Given the description of an element on the screen output the (x, y) to click on. 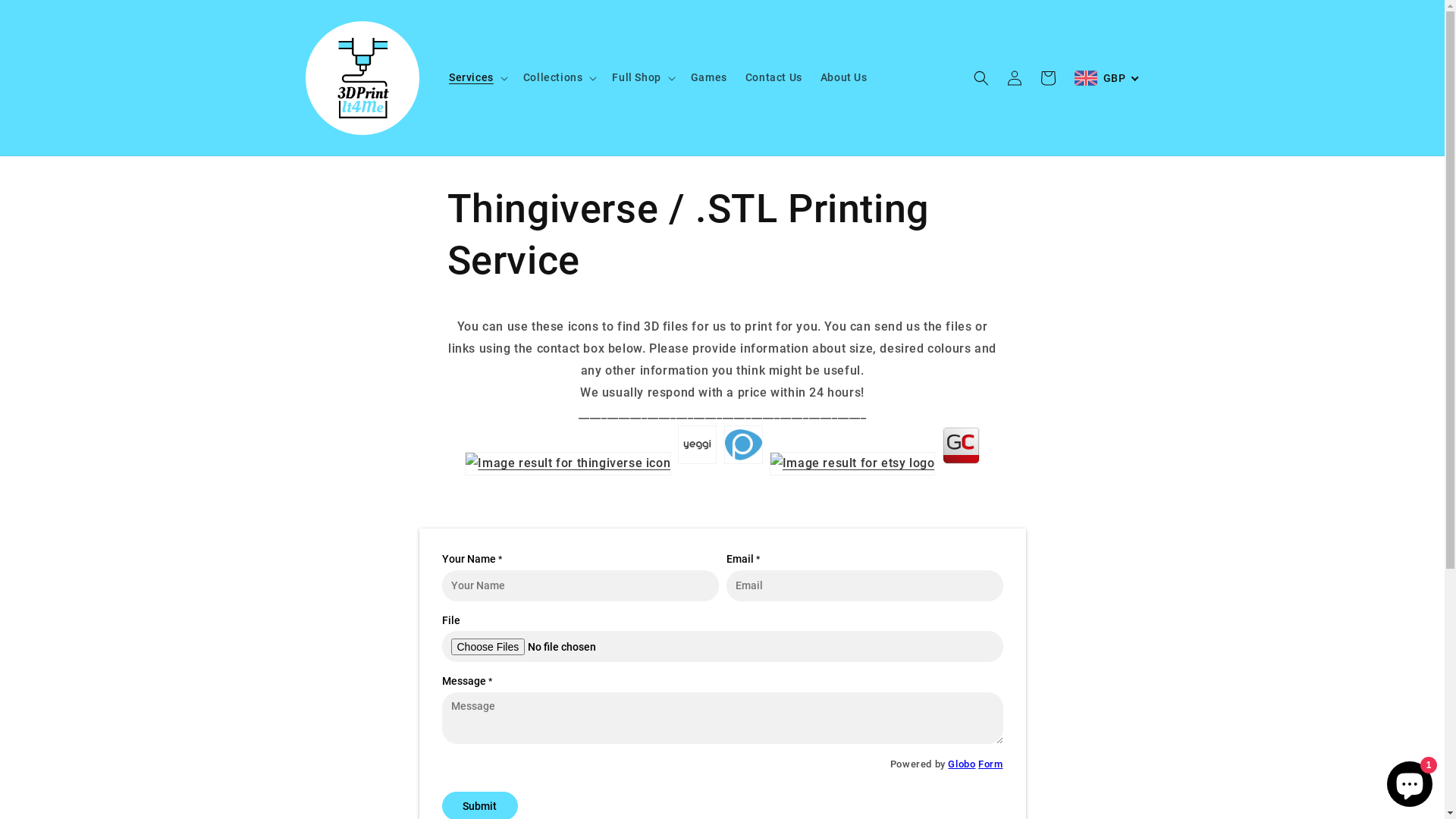
About Us Element type: text (843, 77)
Globo Element type: text (961, 763)
Form Element type: text (990, 763)
yeggi Element type: hover (696, 462)
Cart Element type: text (1047, 77)
Contact Us Element type: text (773, 77)
grabcad Element type: hover (960, 462)
thinigverse Element type: hover (567, 462)
etsy Element type: hover (852, 462)
Log in Element type: text (1014, 77)
Shopify online store chat Element type: hover (1409, 780)
pinshape Element type: hover (743, 462)
Games Element type: text (708, 77)
